Given the description of an element on the screen output the (x, y) to click on. 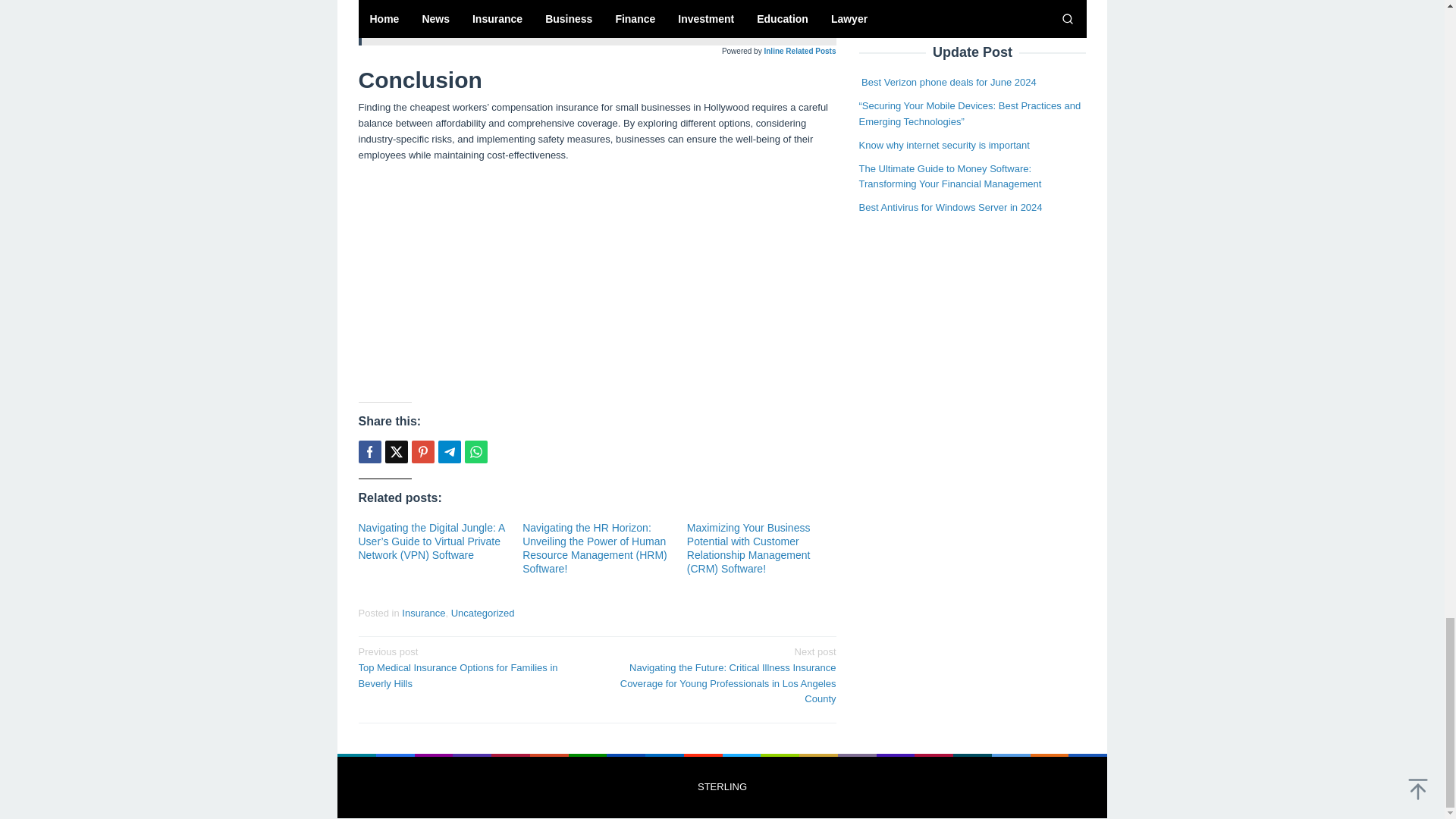
Whatsapp (475, 451)
Inline Related Posts (798, 50)
Advertisement (596, 280)
Tweet this (396, 451)
Share this (369, 451)
Telegram Share (449, 451)
Pin this (596, 25)
Insurance (421, 451)
Uncategorized (423, 613)
